Given the description of an element on the screen output the (x, y) to click on. 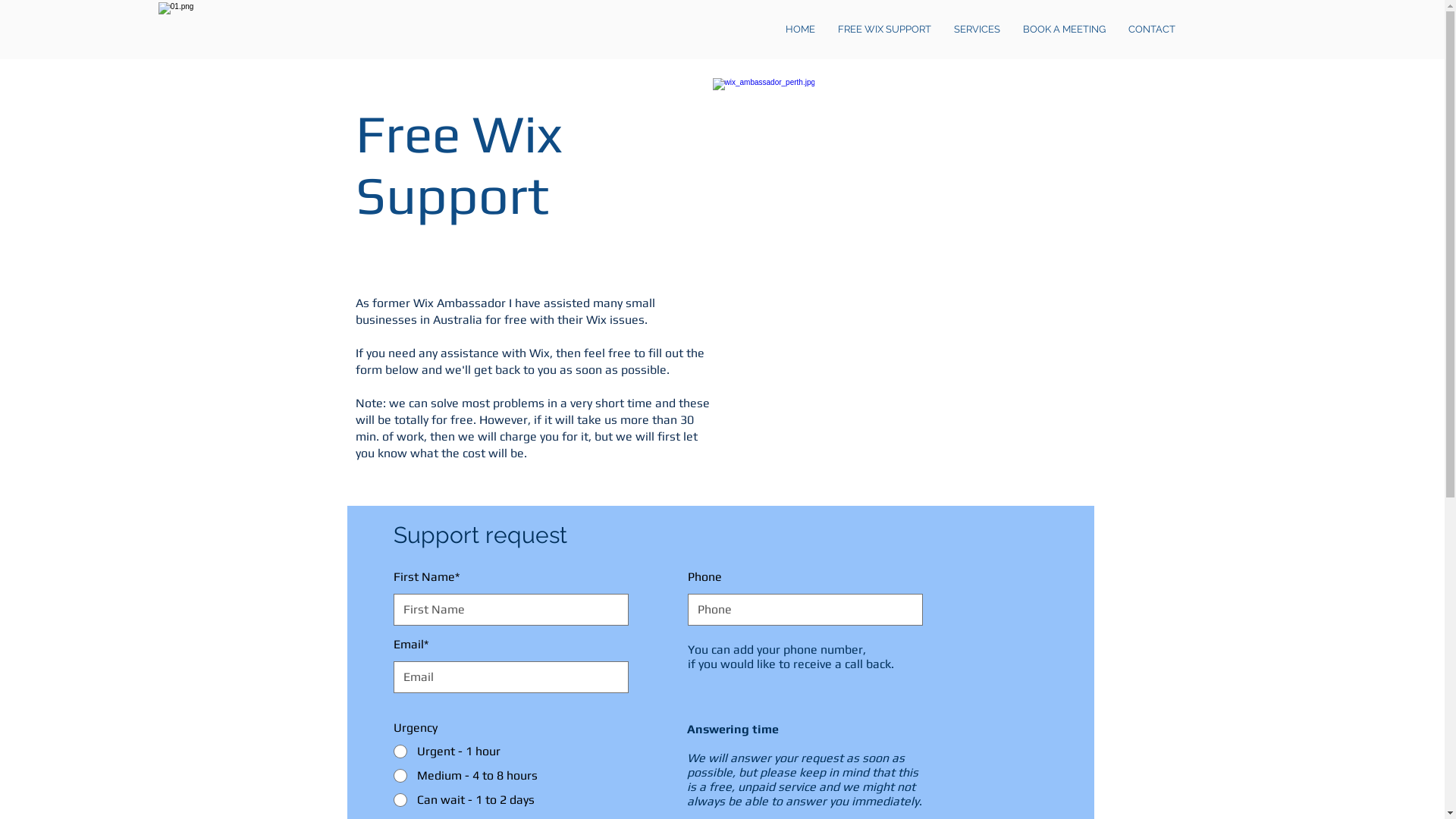
CONTACT Element type: text (1151, 29)
SERVICES Element type: text (976, 29)
FREE WIX SUPPORT Element type: text (884, 29)
HOME Element type: text (800, 29)
BOOK A MEETING Element type: text (1064, 29)
